Given the description of an element on the screen output the (x, y) to click on. 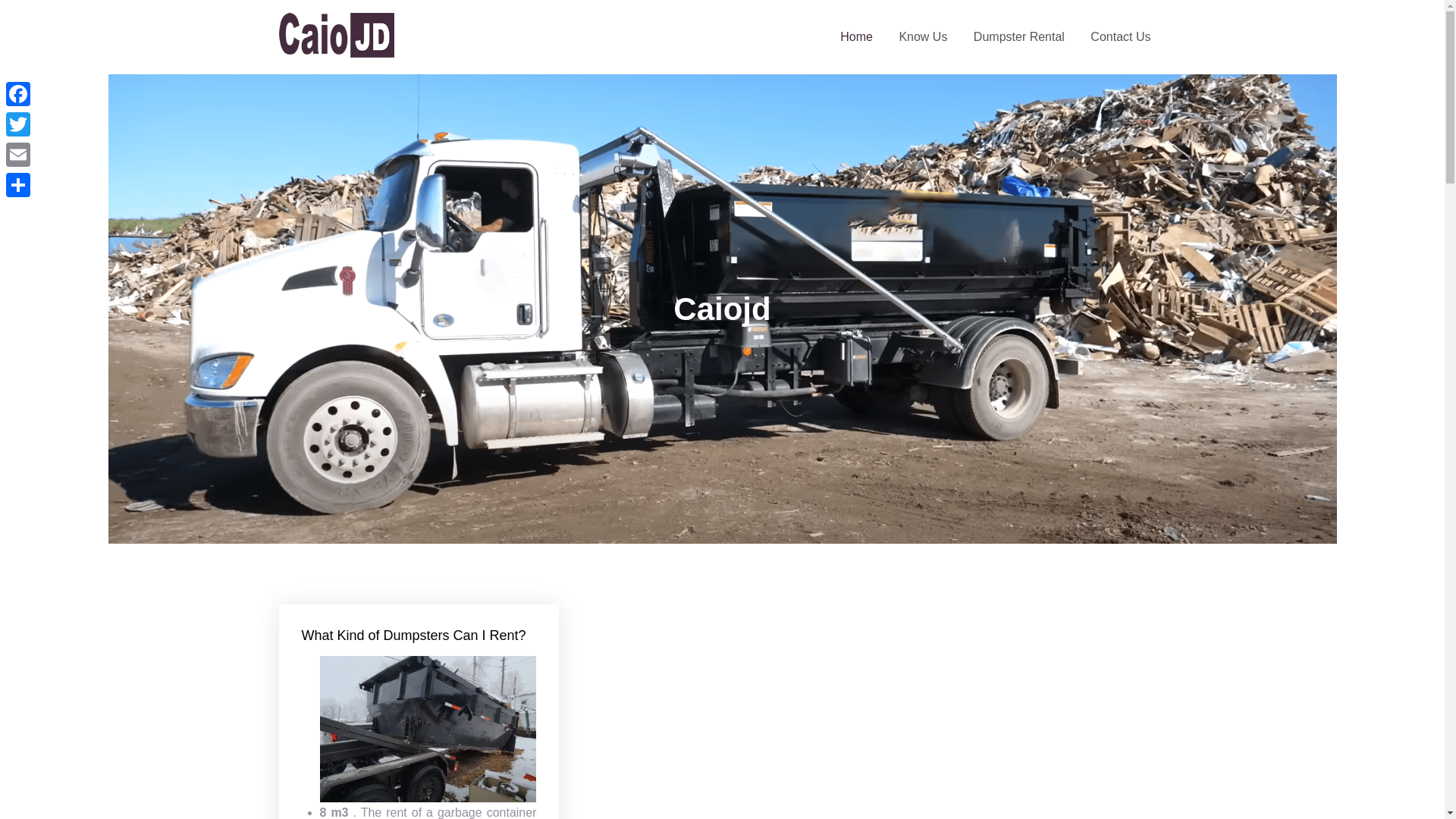
Home (856, 36)
Facebook (17, 93)
Know Us (922, 36)
What Kind of Dumpsters Can I Rent? (413, 635)
Facebook (17, 93)
Contact Us (1120, 36)
Twitter (17, 123)
Email (17, 154)
CAIOJD Dumpster Rentals (501, 46)
Email (17, 154)
Dumpster Rental (1019, 36)
Twitter (17, 123)
